Given the description of an element on the screen output the (x, y) to click on. 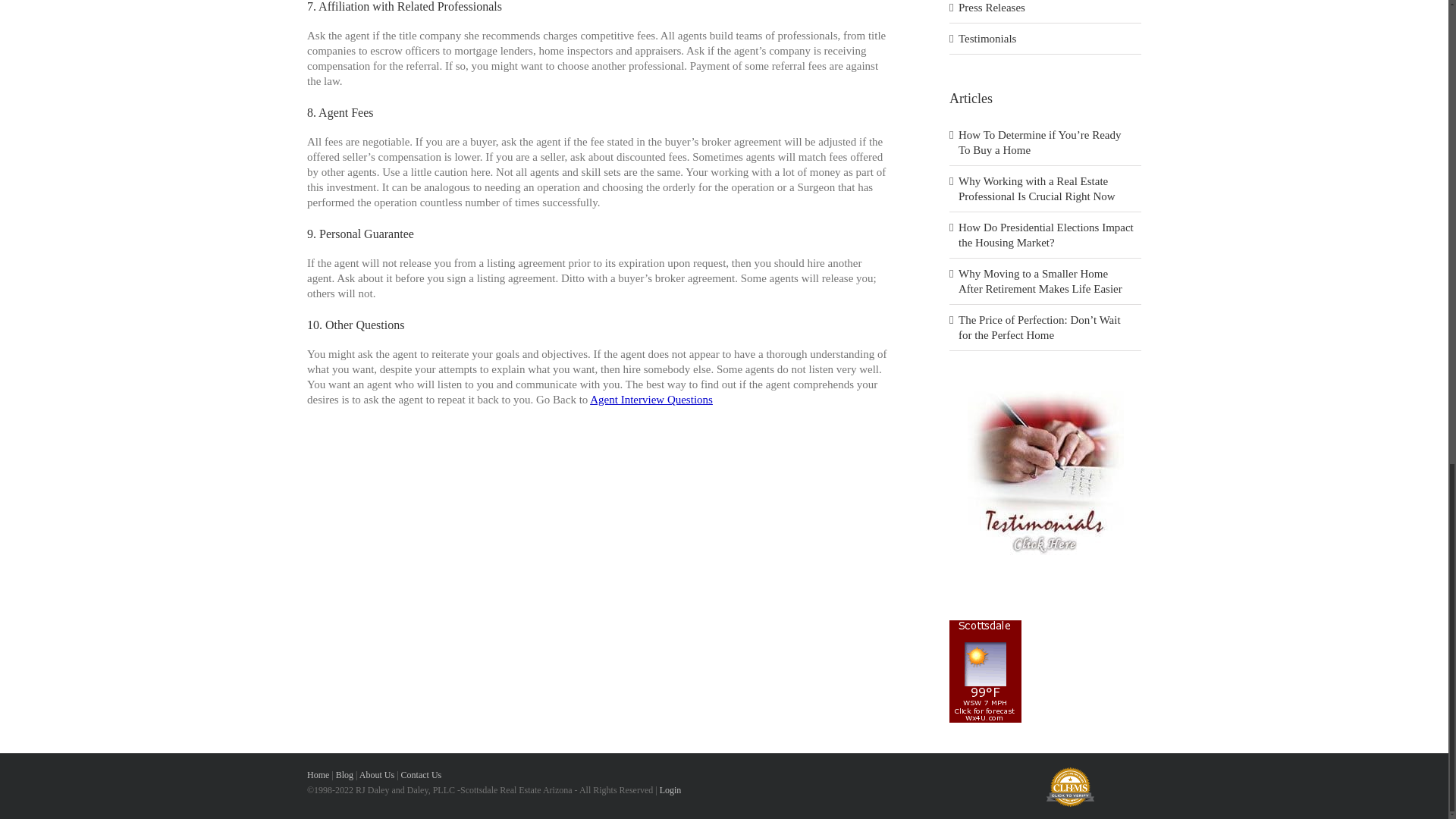
Agent Interview Questions (651, 399)
Questions to Ask a Real Estate Agent (651, 399)
Luxury Valley Homes Testimonials (1046, 392)
